Given the description of an element on the screen output the (x, y) to click on. 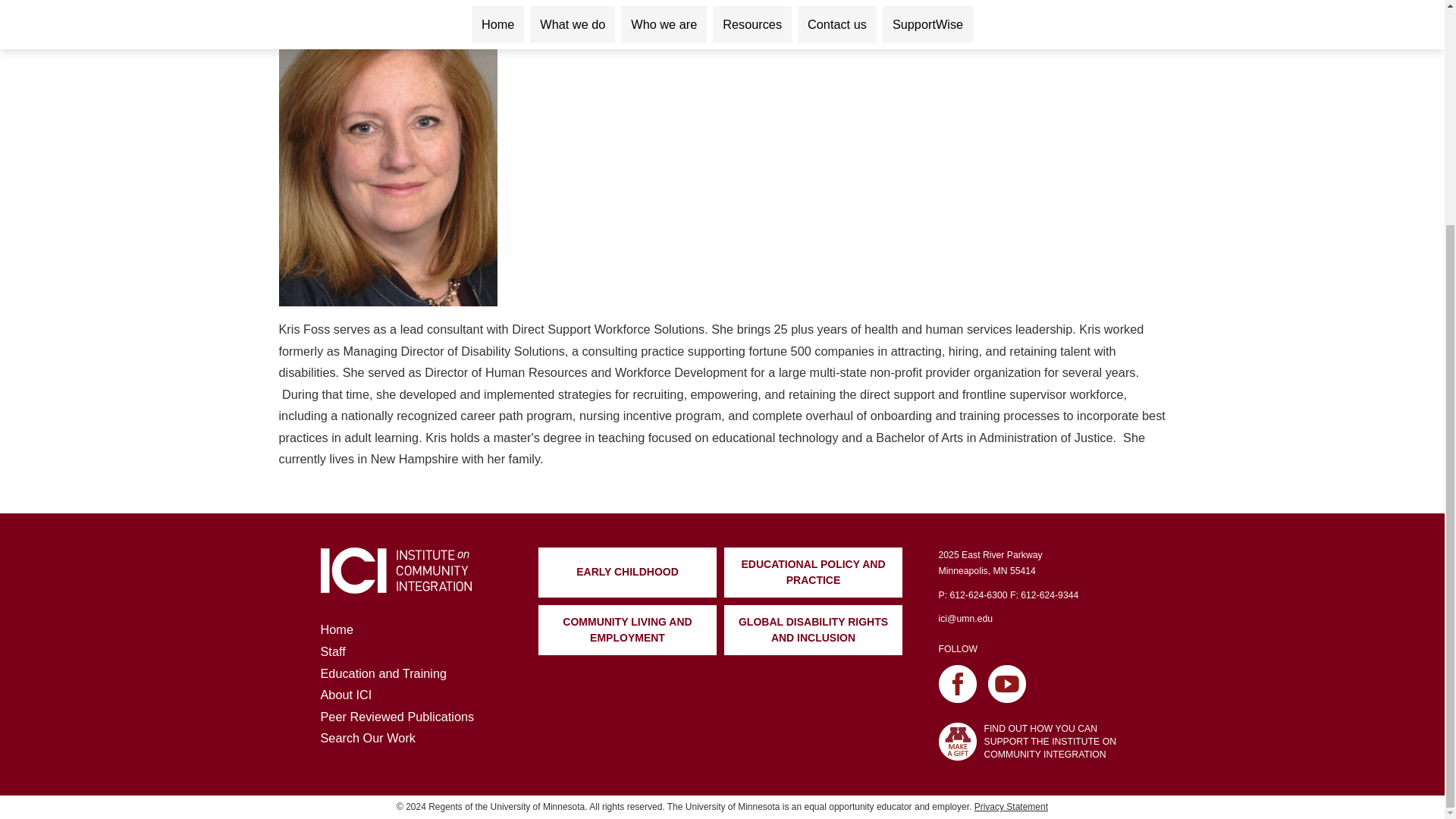
About ICI (345, 694)
Institute on Community Integration (395, 586)
Search Our Work (367, 737)
Institute on Community Integration (395, 570)
Education and Training (383, 672)
Home (336, 629)
Peer Reviewed Publications (397, 716)
GLOBAL DISABILITY RIGHTS AND INCLUSION (812, 630)
Privacy Statement (1011, 806)
COMMUNITY LIVING AND EMPLOYMENT (627, 630)
Staff (332, 651)
EARLY CHILDHOOD (627, 572)
EDUCATIONAL POLICY AND PRACTICE (812, 572)
